Given the description of an element on the screen output the (x, y) to click on. 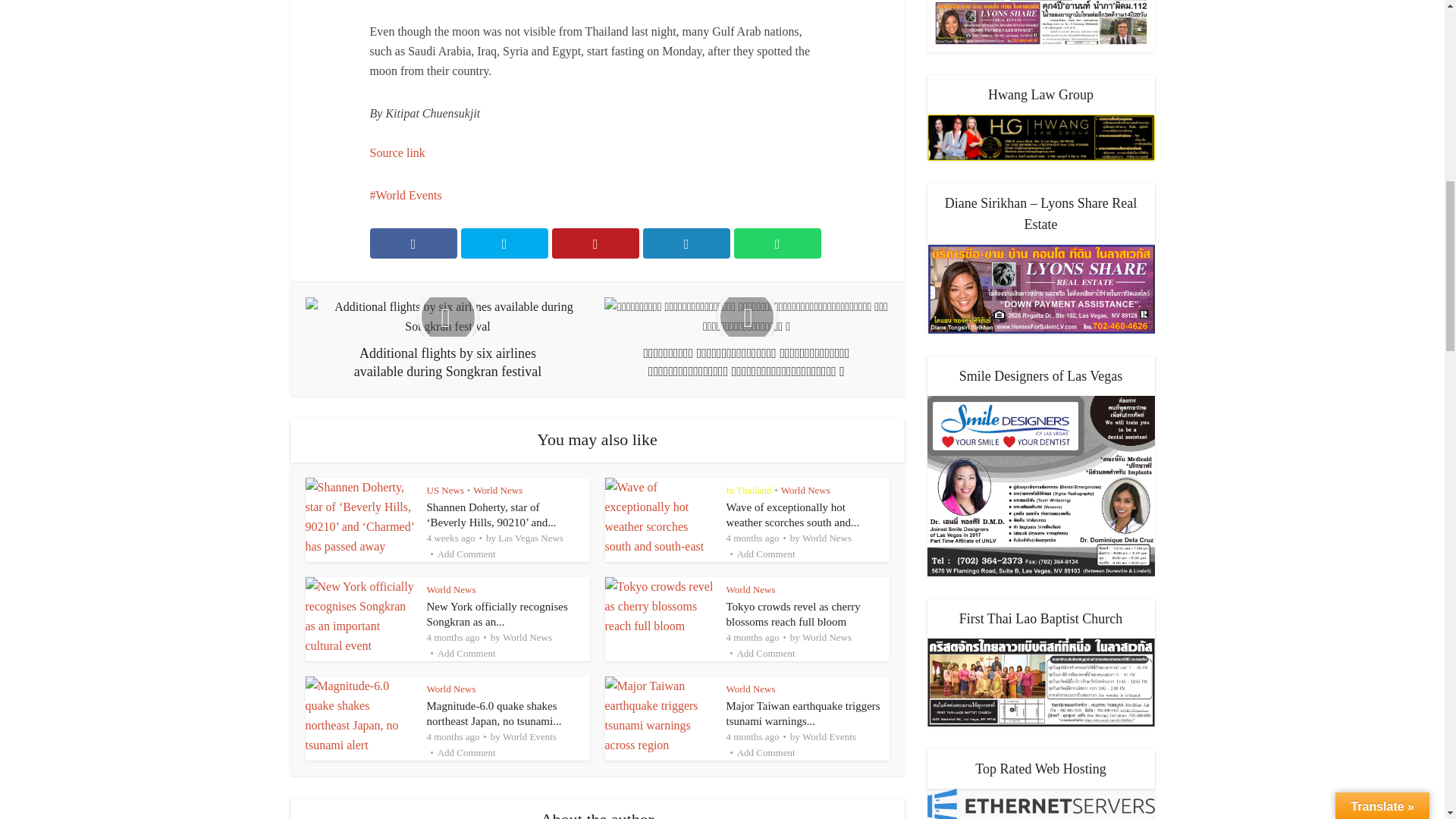
Source link (397, 152)
World Events (405, 195)
